Given the description of an element on the screen output the (x, y) to click on. 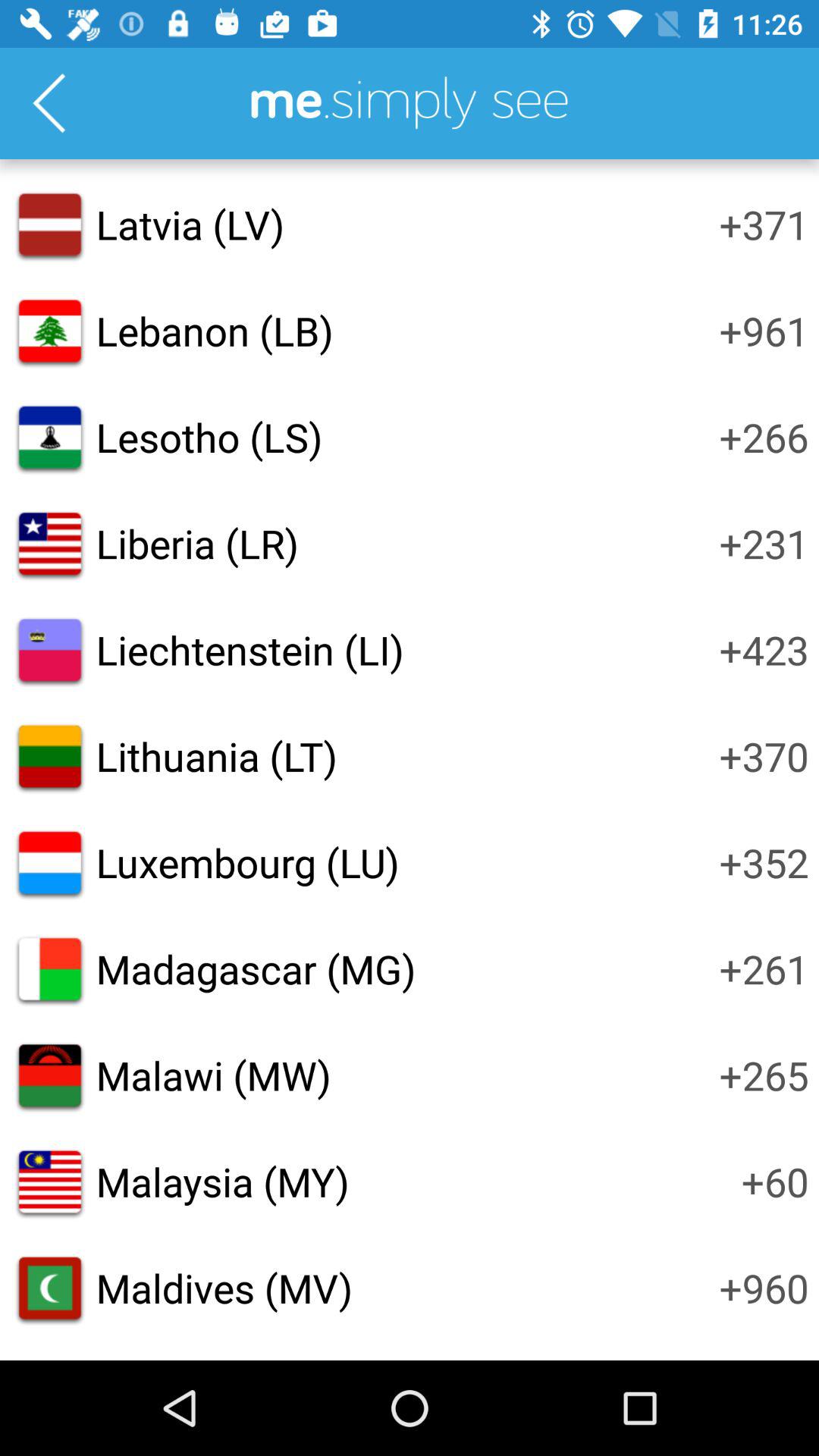
launch the item to the right of the liberia (lr) icon (763, 542)
